Given the description of an element on the screen output the (x, y) to click on. 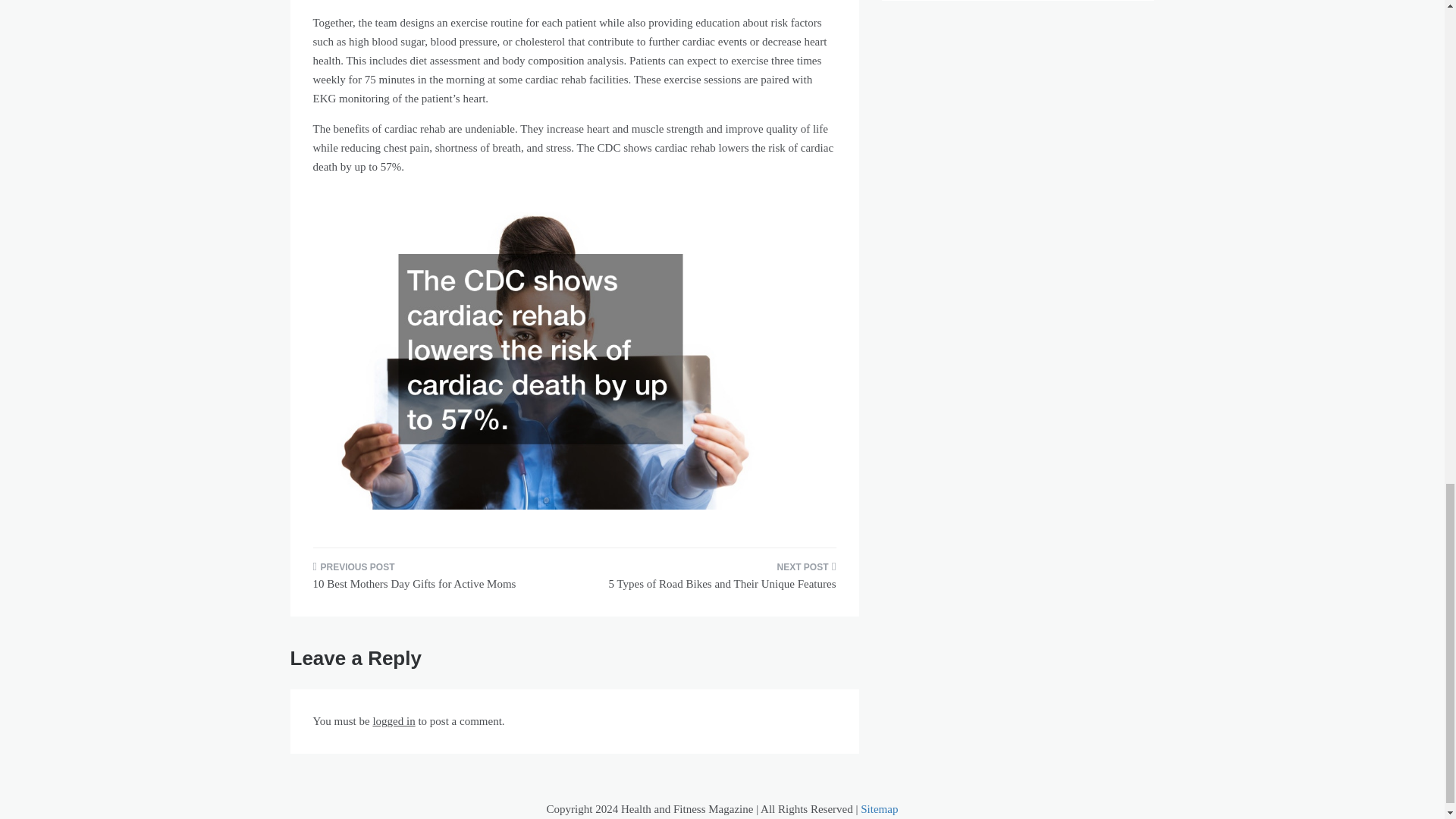
Sitemap (879, 808)
10 Best Mothers Day Gifts for Active Moms (437, 580)
5 Types of Road Bikes and Their Unique Features (710, 580)
logged in (393, 720)
